Given the description of an element on the screen output the (x, y) to click on. 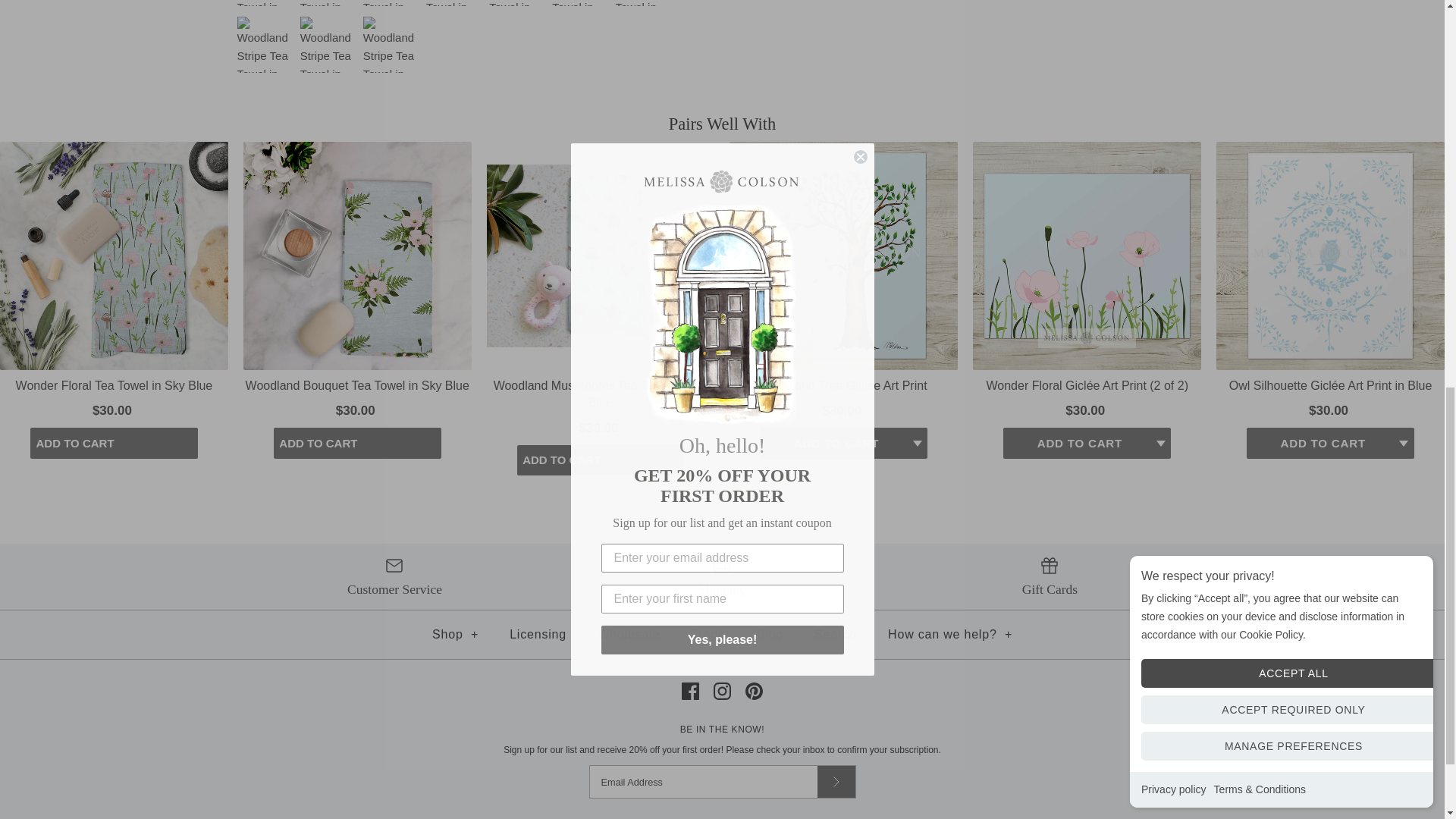
Instagram (721, 691)
Pinterest (753, 691)
Facebook (689, 691)
